Given the description of an element on the screen output the (x, y) to click on. 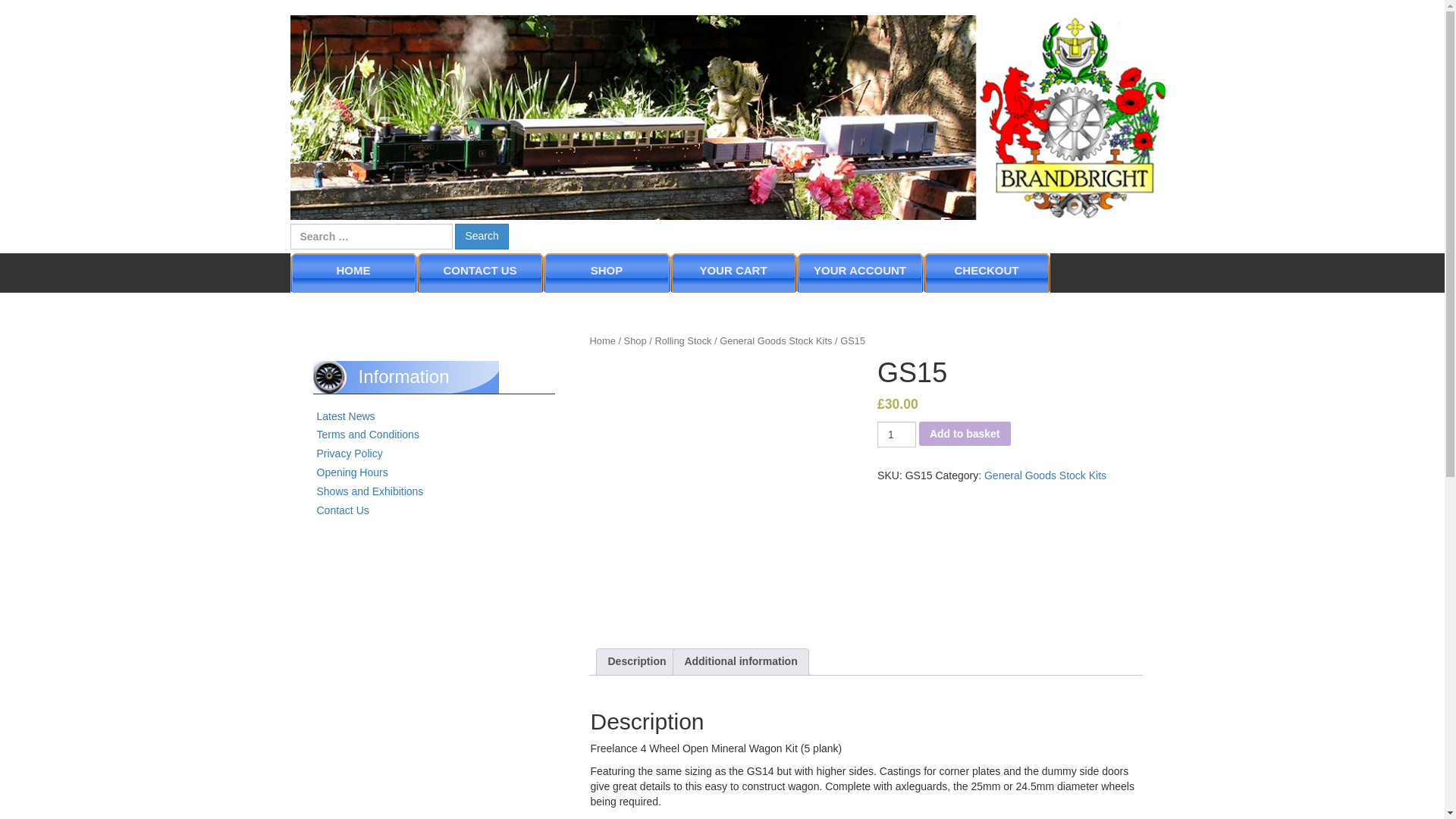
General Goods Stock Kits (775, 340)
Shows and Exhibitions (370, 491)
YOUR CART (732, 269)
Opening Hours (352, 472)
Add to basket (964, 433)
Terms and Conditions (368, 434)
Search (481, 235)
Brandbright (727, 115)
HOME (353, 269)
1 (896, 434)
Rolling Stock (682, 340)
CONTACT US (479, 269)
CHECKOUT (985, 269)
Privacy Policy (349, 453)
Search (481, 235)
